Given the description of an element on the screen output the (x, y) to click on. 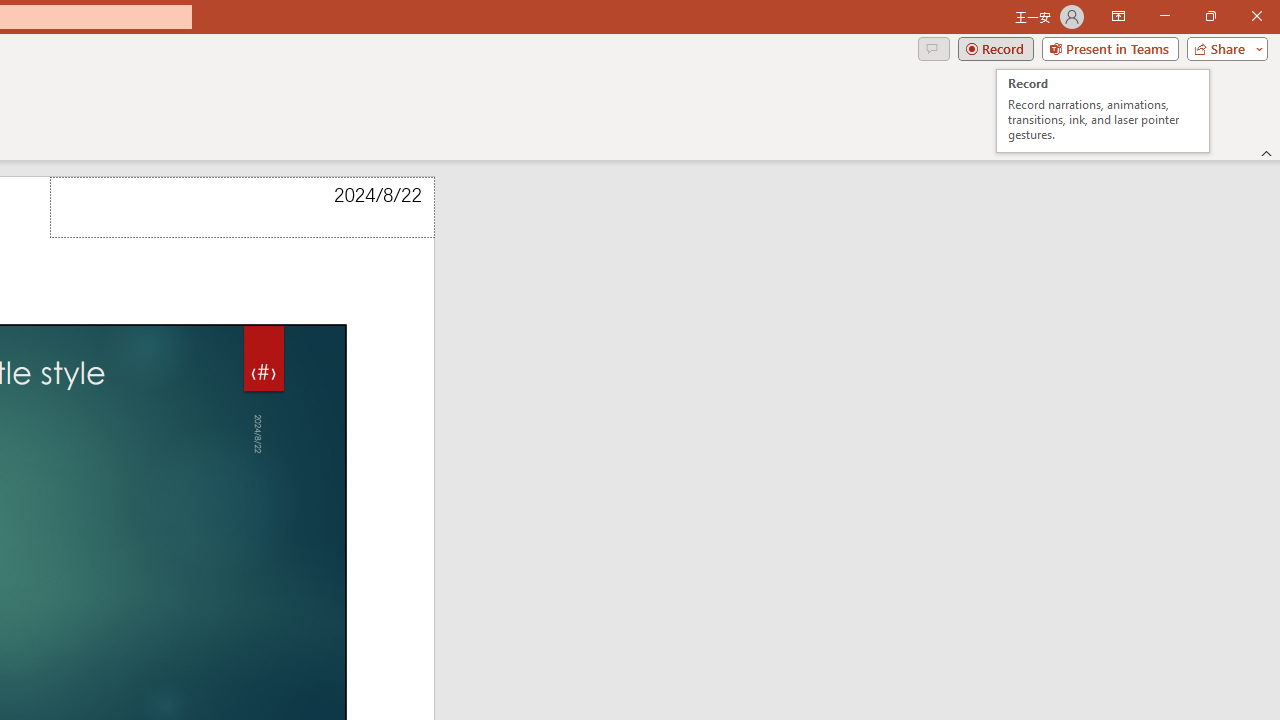
Date (242, 207)
